Given the description of an element on the screen output the (x, y) to click on. 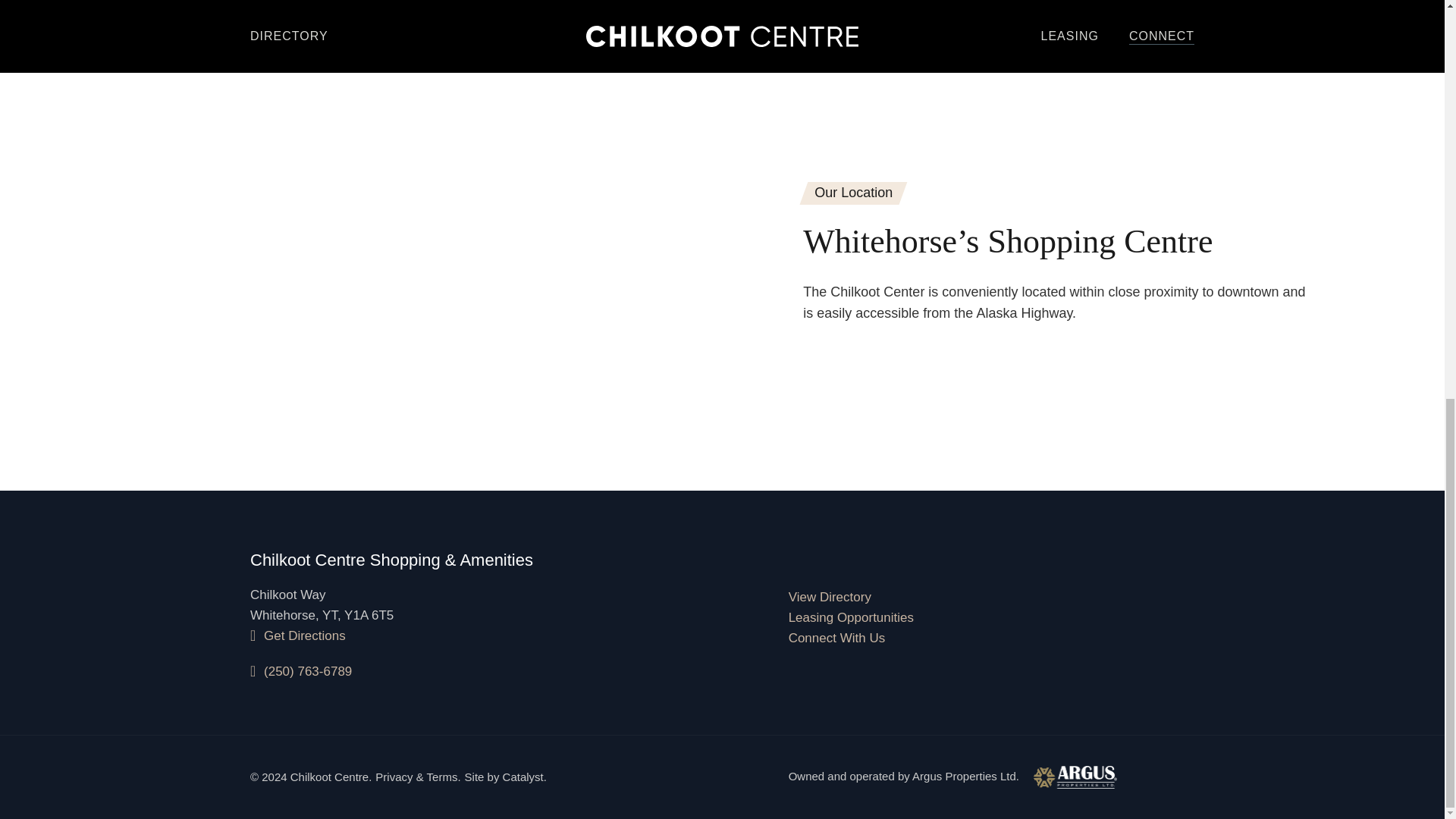
Connect With Us (837, 637)
Catalyst (522, 776)
Argus Properties Ltd. (1014, 775)
Get Directions (298, 635)
Leasing Opportunities (851, 617)
View Directory (829, 596)
